Given the description of an element on the screen output the (x, y) to click on. 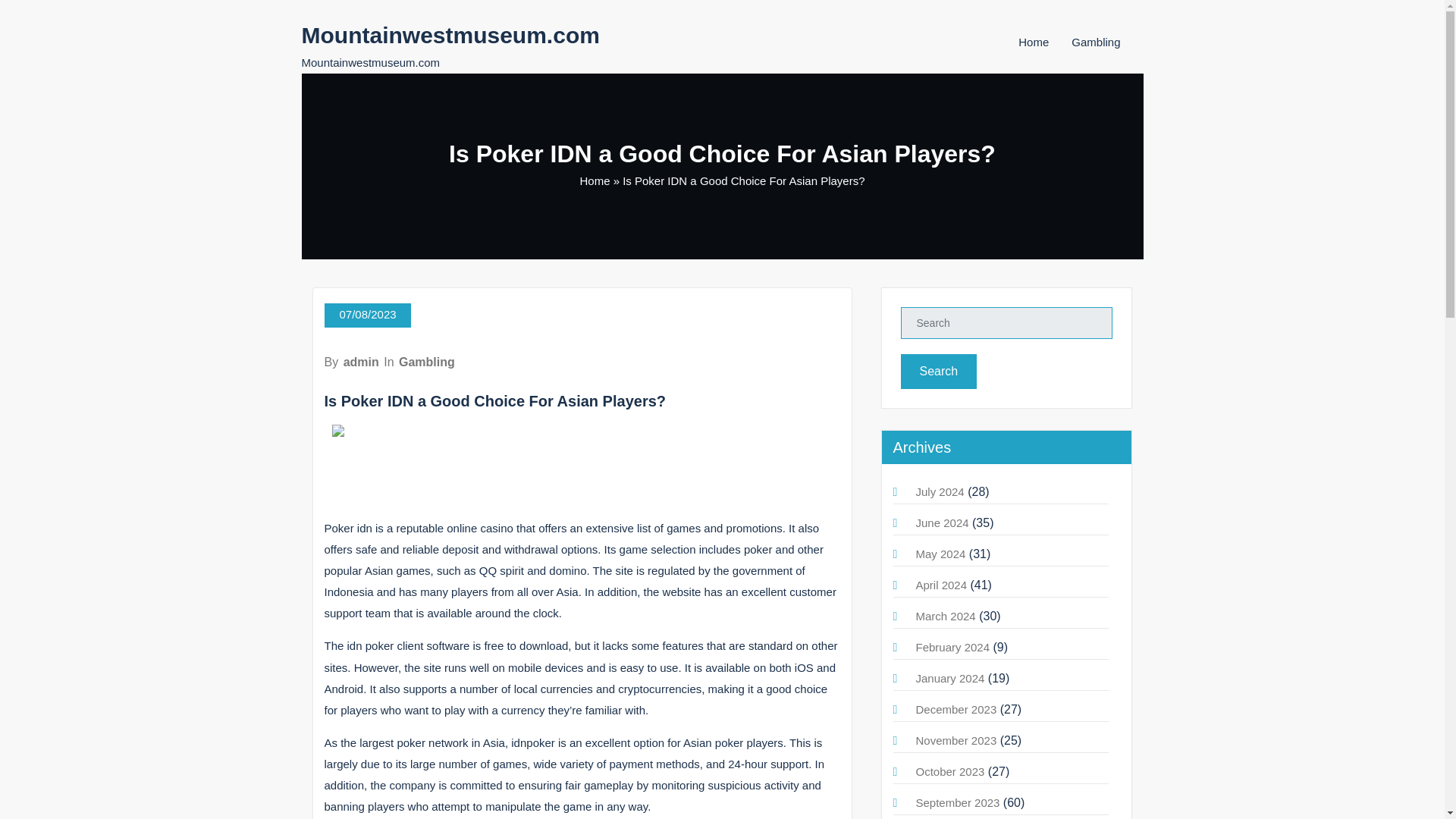
May 2024 (940, 553)
February 2024 (952, 646)
Search (938, 371)
admin (361, 361)
March 2024 (945, 615)
Home (594, 180)
Mountainwestmuseum.com (450, 34)
Home (1032, 41)
Gambling (1095, 41)
June 2024 (942, 522)
December 2023 (956, 708)
September 2023 (957, 802)
January 2024 (950, 677)
November 2023 (956, 739)
July 2024 (939, 491)
